Given the description of an element on the screen output the (x, y) to click on. 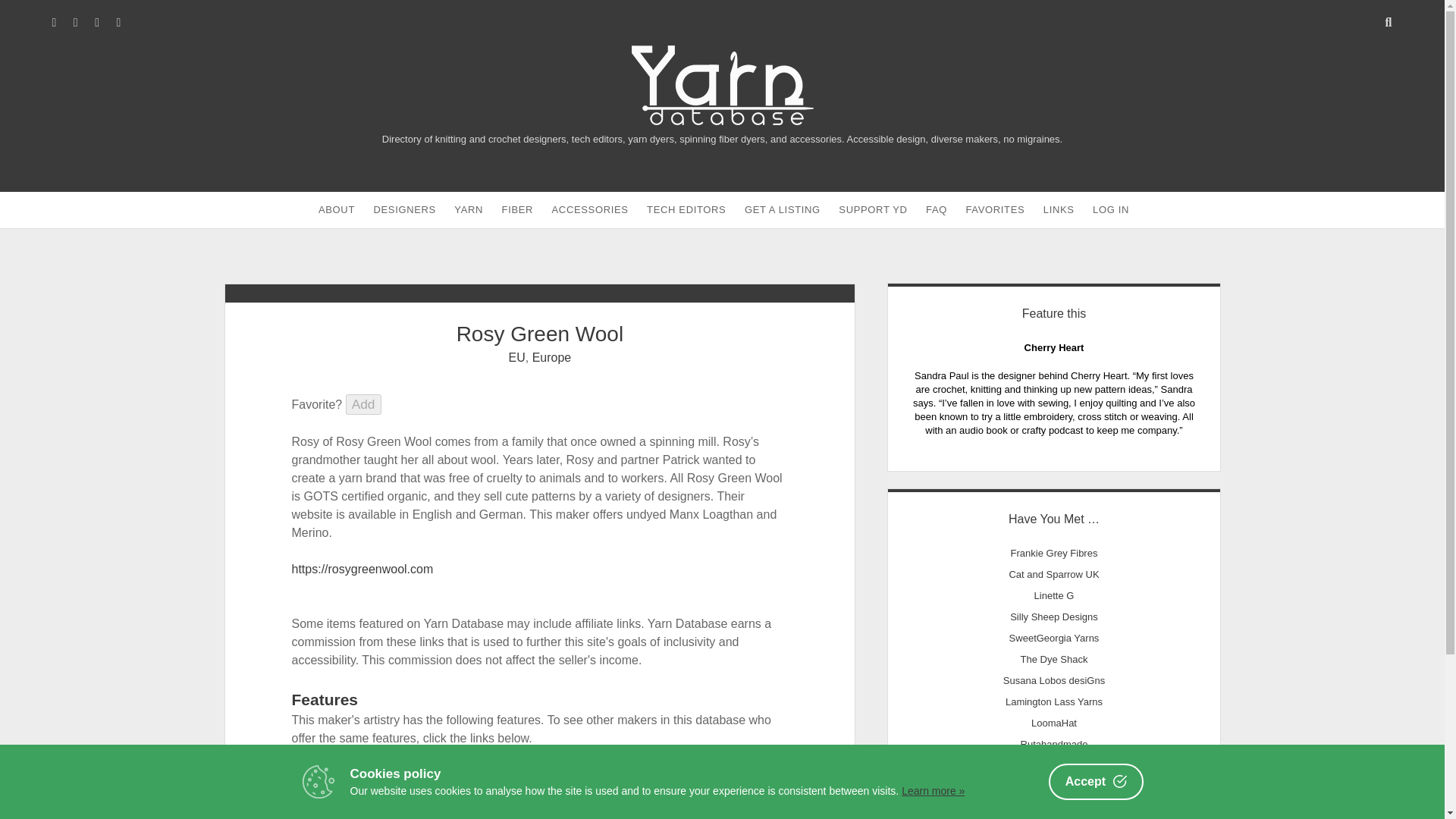
DESIGNERS (404, 209)
Wool (510, 774)
Cat and Sparrow UK (1054, 573)
Sport (491, 792)
FIBER (518, 209)
FAQ (936, 209)
TECH EDITORS (686, 209)
GET A LISTING (782, 209)
LOG IN (1110, 209)
EU (516, 357)
